Given the description of an element on the screen output the (x, y) to click on. 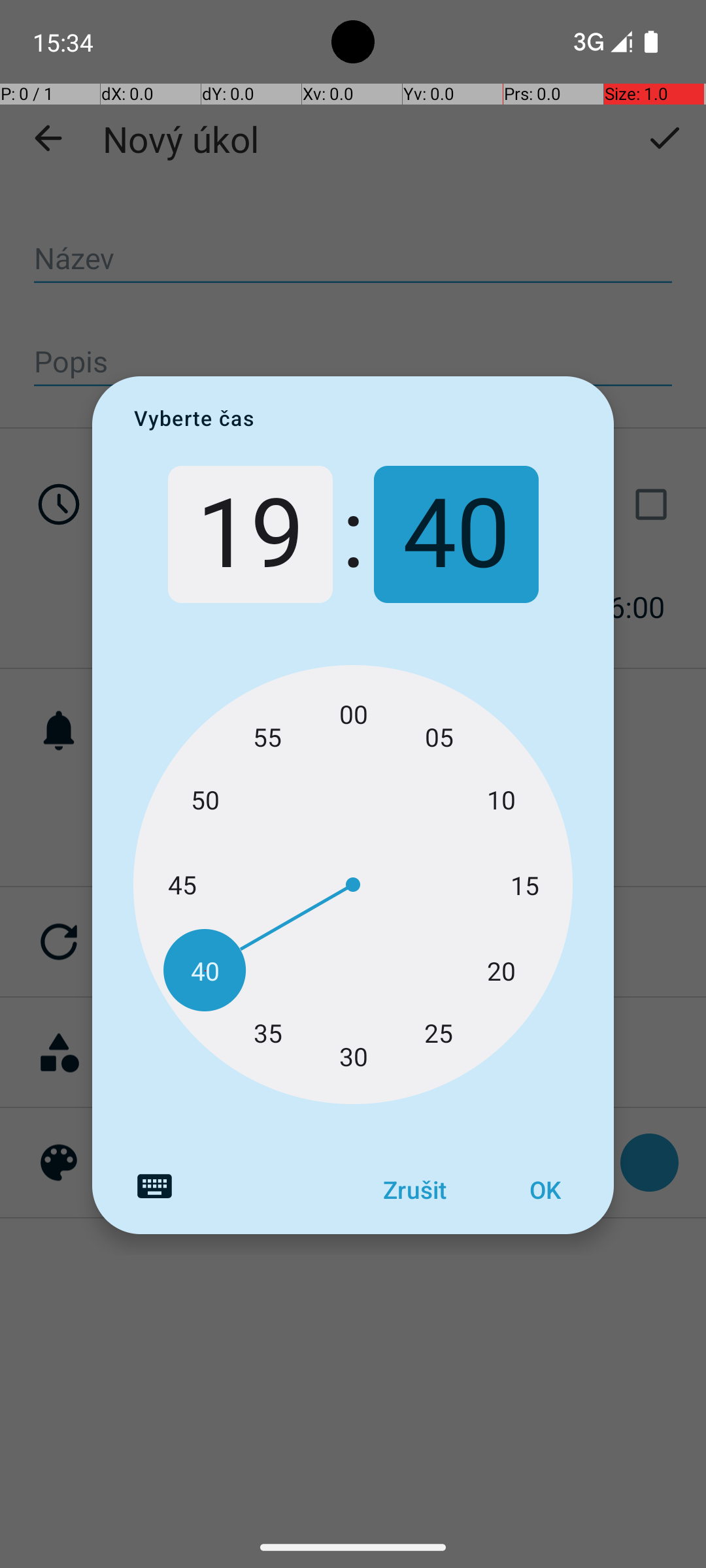
Chcete-li zadat čas, přepněte na režim textu. Element type: android.widget.Button (154, 1186)
